Given the description of an element on the screen output the (x, y) to click on. 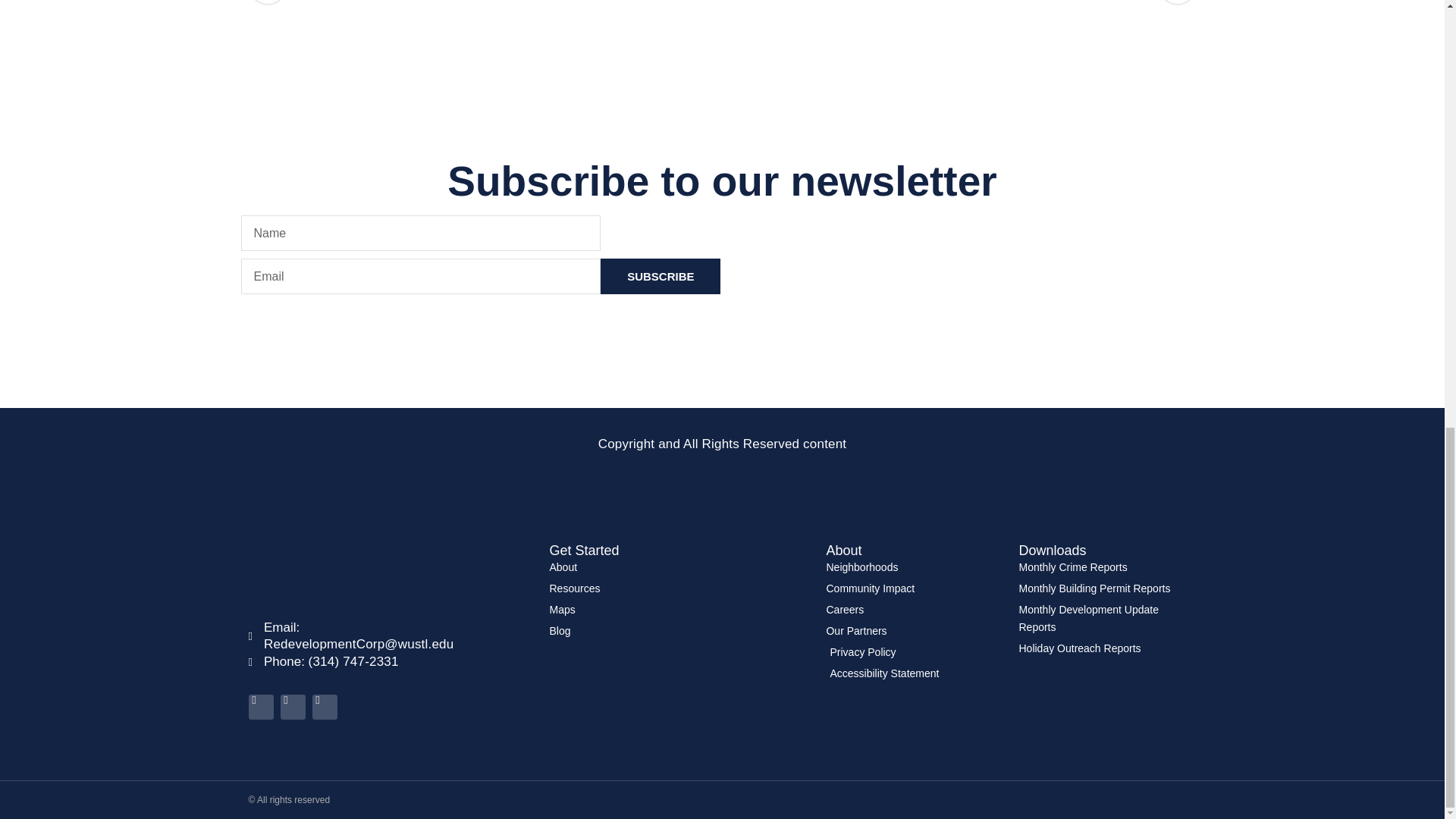
Maps (659, 276)
Resources (679, 610)
Community Impact (679, 588)
Slash (914, 588)
About (722, 2)
Blog (679, 567)
Neighborhoods (679, 630)
